Given the description of an element on the screen output the (x, y) to click on. 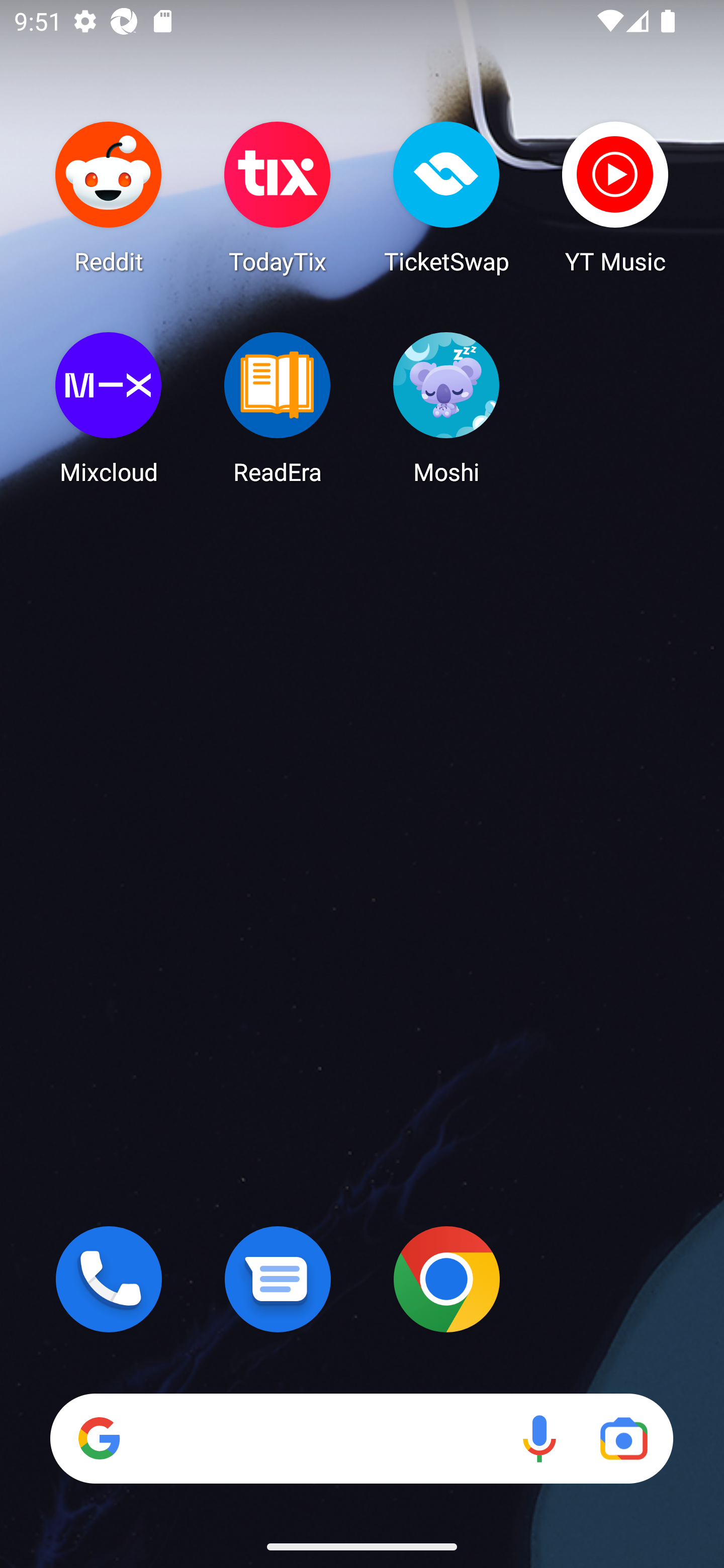
Reddit (108, 196)
TodayTix (277, 196)
TicketSwap (445, 196)
YT Music (615, 196)
Mixcloud (108, 407)
ReadEra (277, 407)
Moshi (445, 407)
Phone (108, 1279)
Messages (277, 1279)
Chrome (446, 1279)
Voice search (539, 1438)
Google Lens (623, 1438)
